Given the description of an element on the screen output the (x, y) to click on. 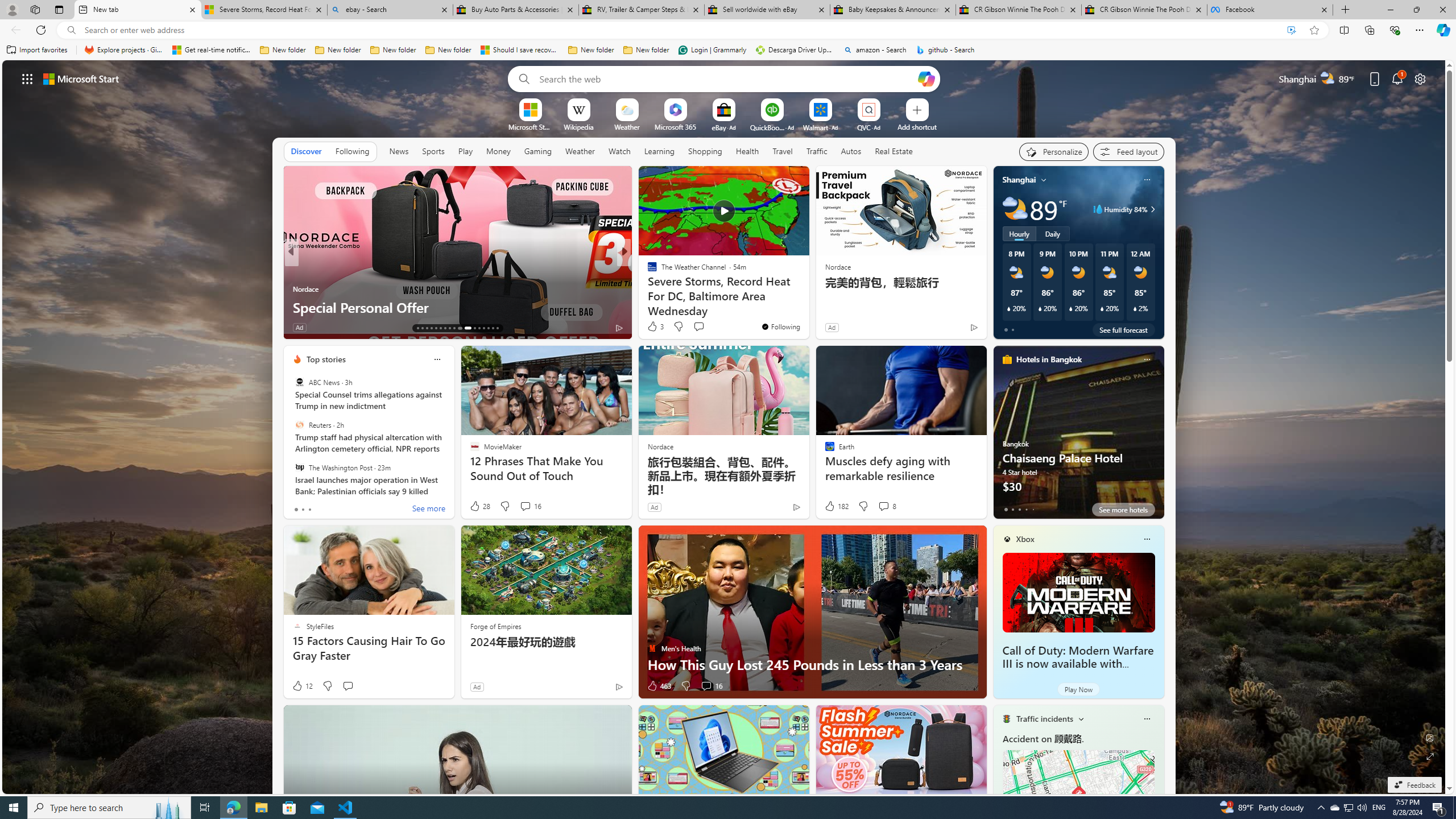
My location (1043, 179)
New folder (646, 49)
NBC News (647, 270)
Add this page to favorites (Ctrl+D) (1314, 29)
App bar (728, 29)
AutomationID: tab-26 (483, 328)
Traffic Title Traffic Light (1005, 718)
AutomationID: tab-25 (478, 328)
Travel (782, 151)
TheStreet (647, 288)
Gaming (537, 151)
AutomationID: tab-24 (474, 328)
